Given the description of an element on the screen output the (x, y) to click on. 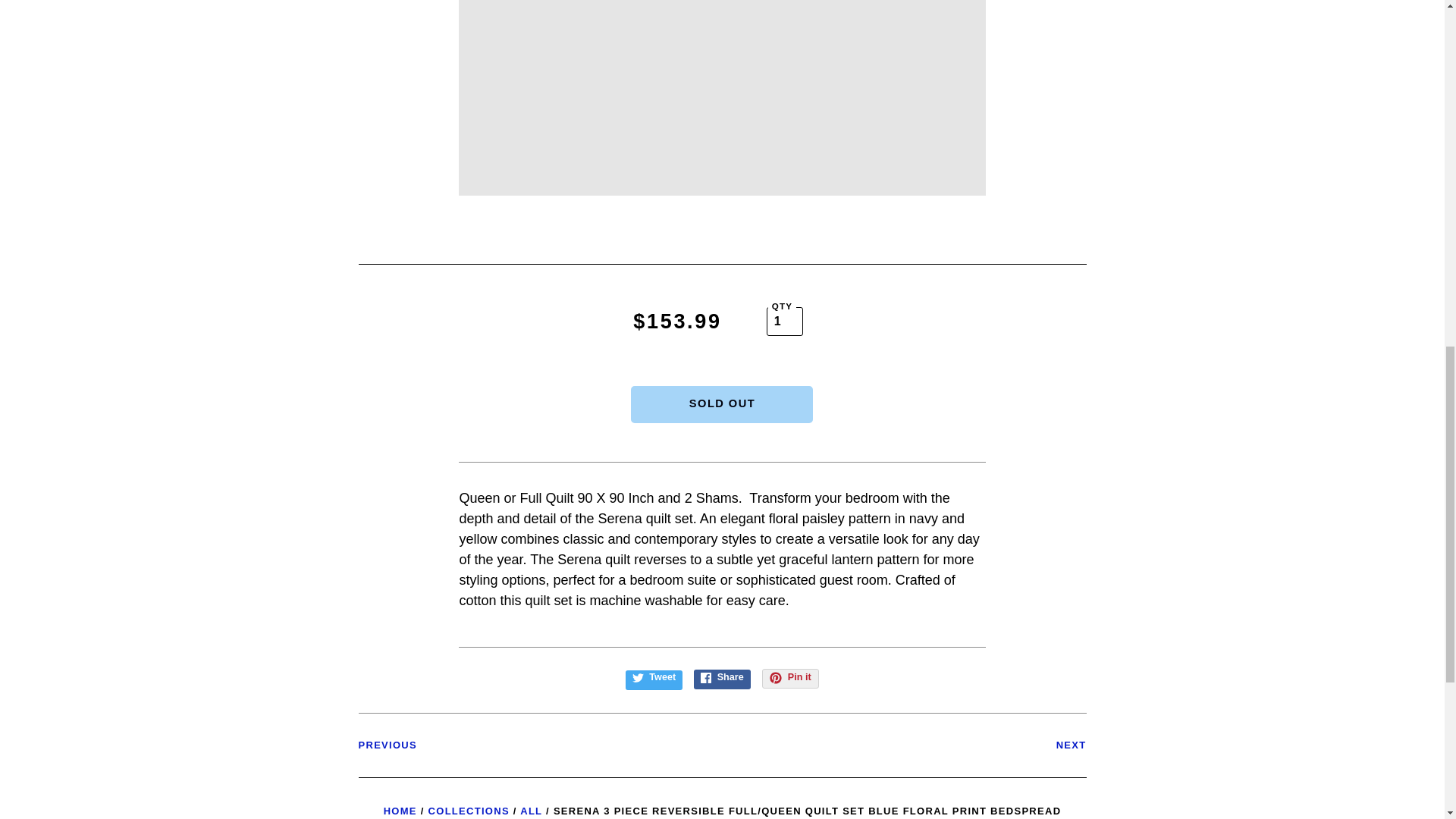
ALL (530, 810)
PREVIOUS (387, 745)
HOME (400, 810)
NEXT (1071, 745)
Share (722, 679)
Pin it (789, 678)
Sold Out (721, 404)
Tweet (654, 680)
COLLECTIONS (468, 810)
1 (785, 321)
